Given the description of an element on the screen output the (x, y) to click on. 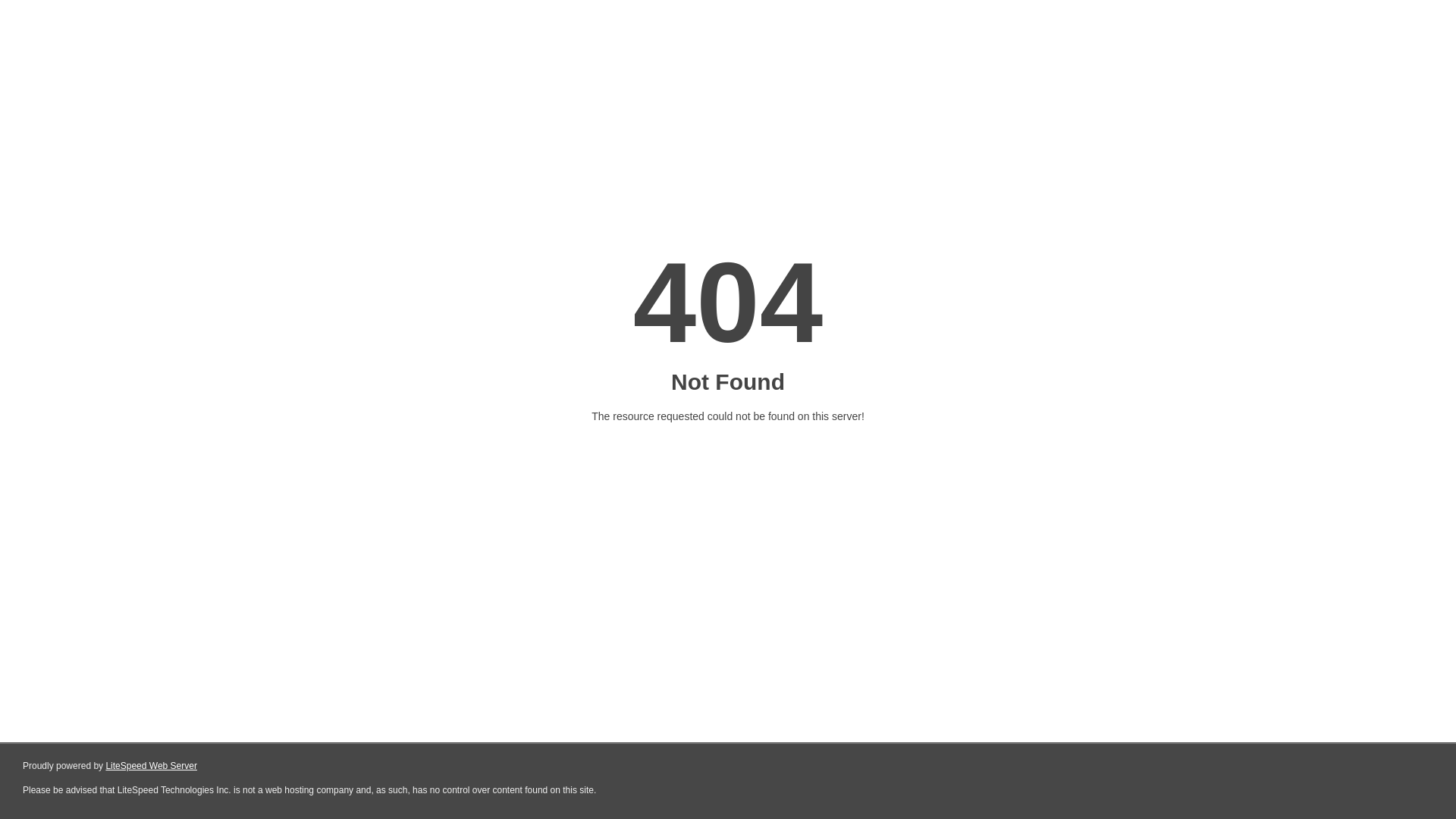
LiteSpeed Web Server Element type: text (151, 765)
